Given the description of an element on the screen output the (x, y) to click on. 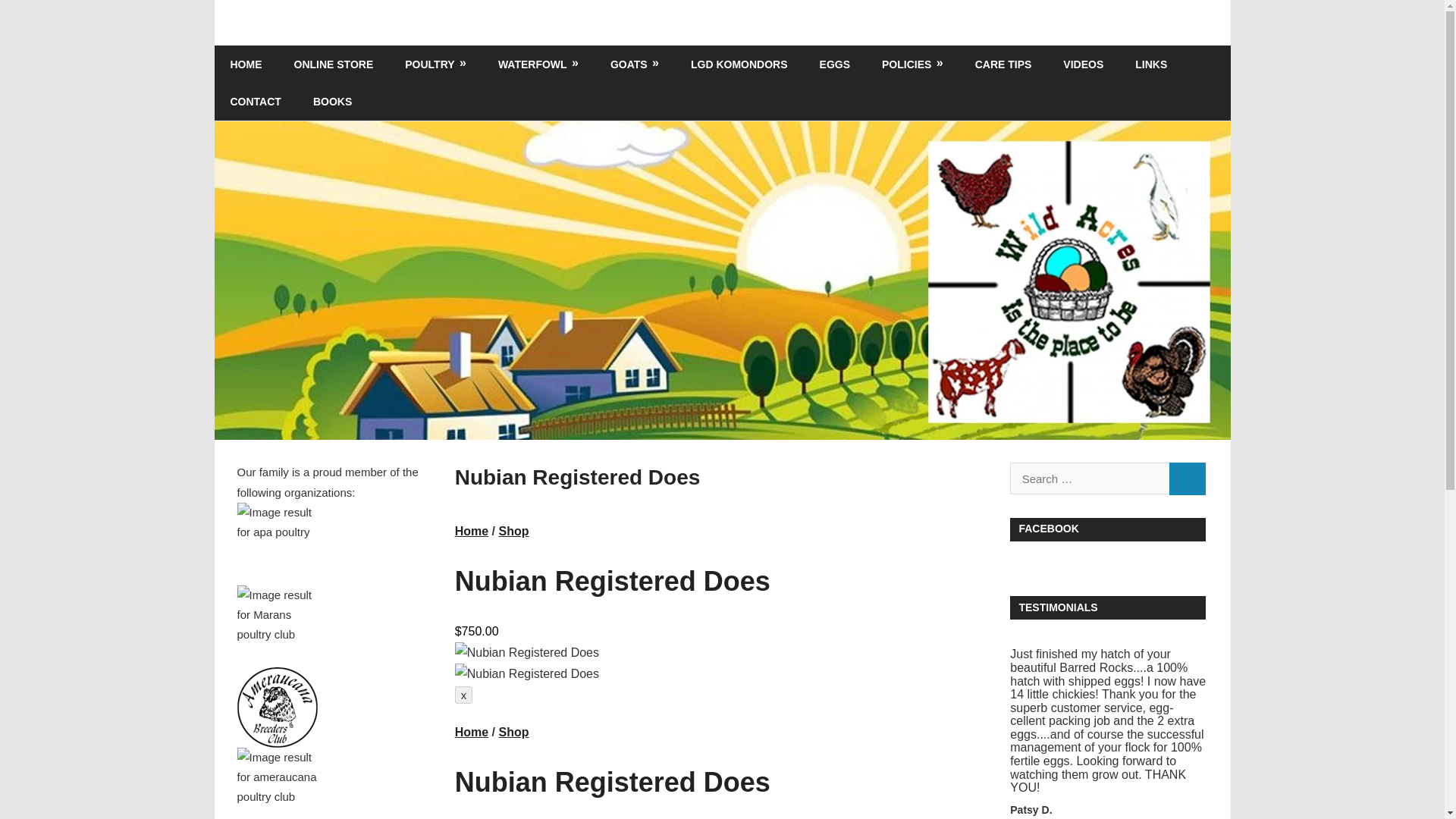
EGGS (834, 64)
HOME (246, 64)
CARE TIPS (1003, 64)
GOATS (634, 64)
x (463, 694)
VIDEOS (1082, 64)
CONTACT (255, 102)
Search for: (1089, 477)
LINKS (1150, 64)
LGD KOMONDORS (739, 64)
